Given the description of an element on the screen output the (x, y) to click on. 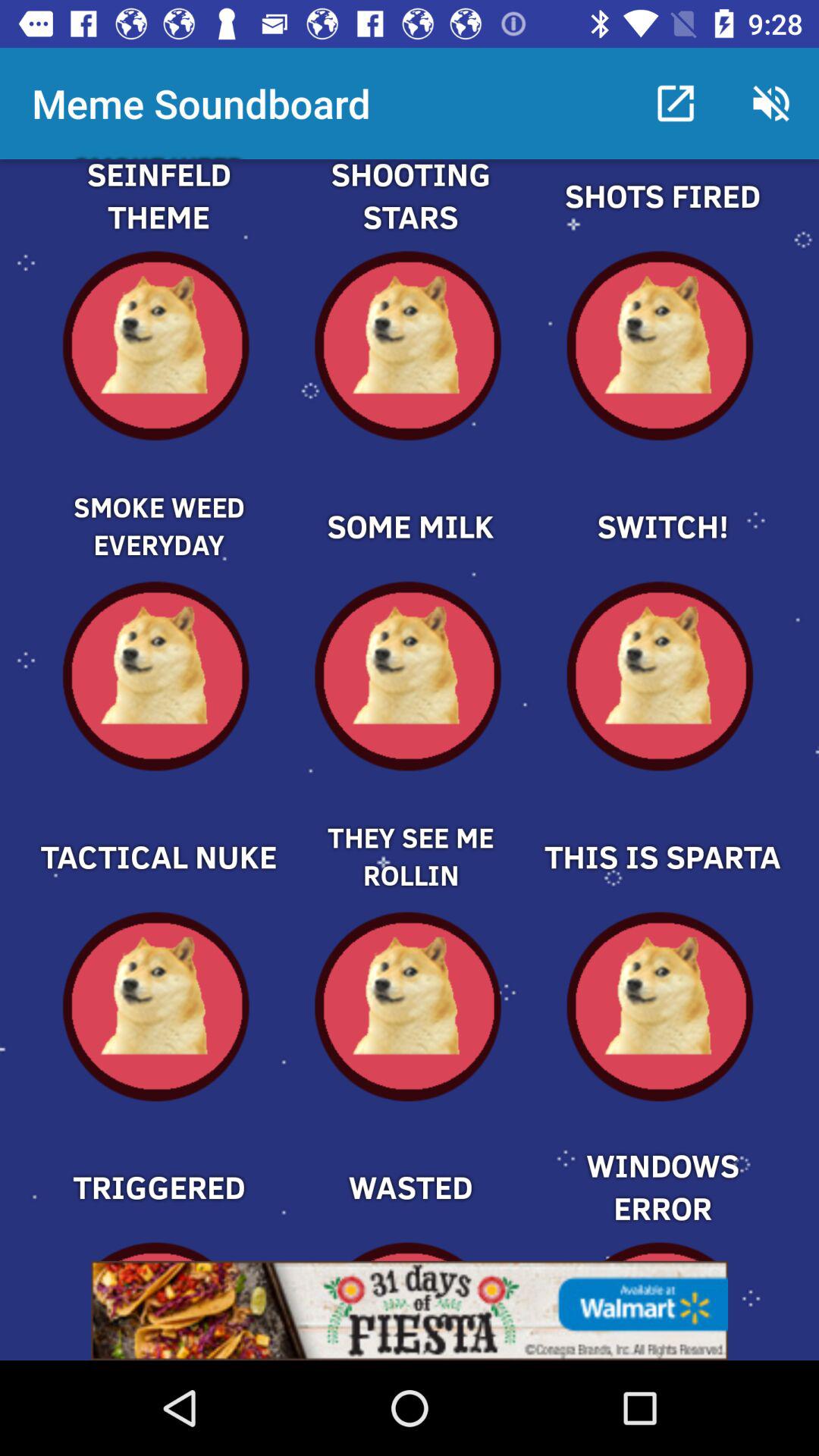
play displayed sound (409, 500)
